Given the description of an element on the screen output the (x, y) to click on. 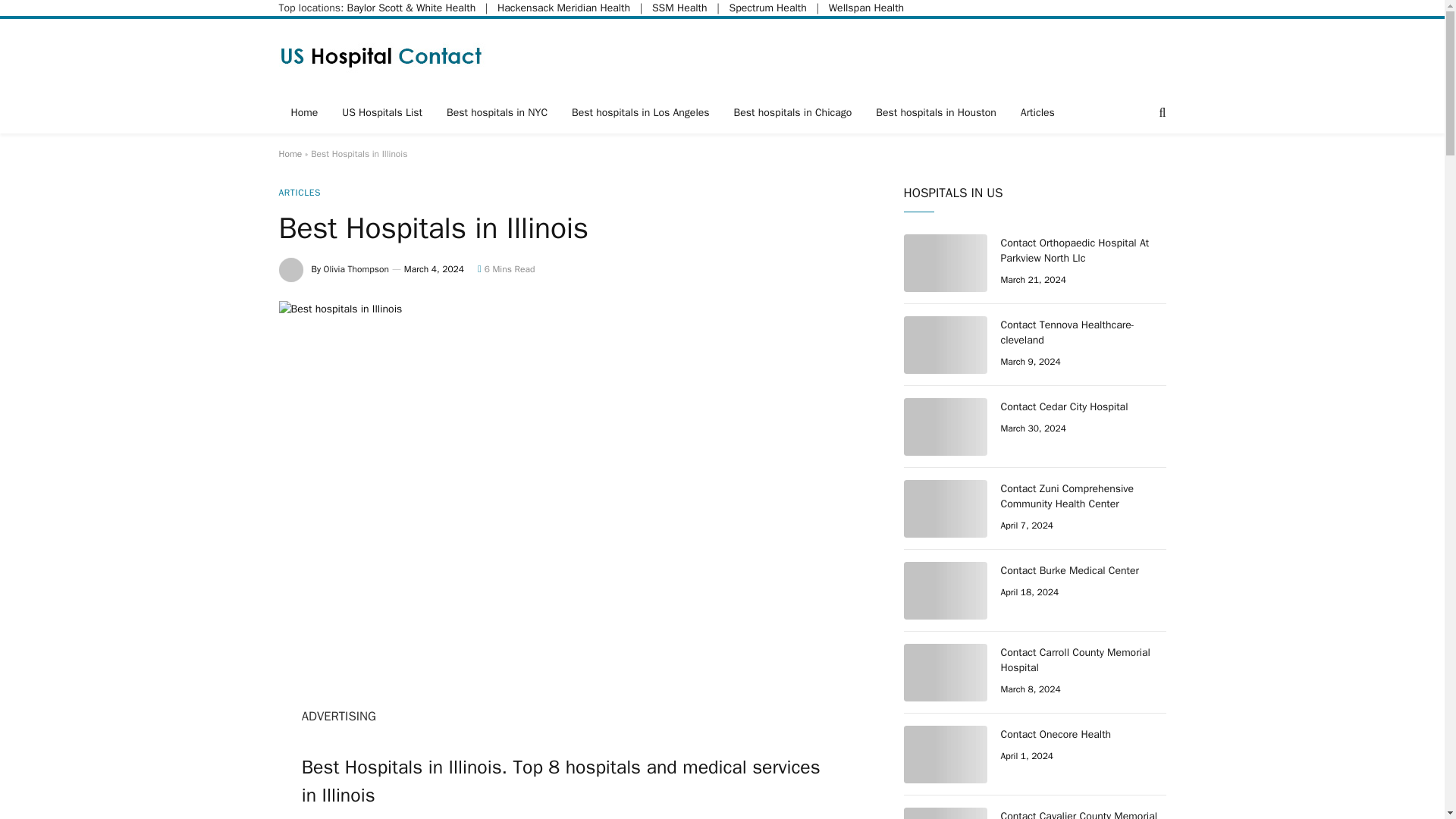
SSM Health (679, 7)
Best hospitals in Los Angeles (639, 112)
US Hospitals List (381, 112)
Home (290, 153)
SSM Health (679, 7)
Wellspan Health (866, 7)
Lists of hospitals in the United States (381, 54)
Olivia Thompson (355, 268)
Hackensack Meridian Health (563, 7)
ARTICLES (300, 192)
Wellspan Health (866, 7)
Hospital Contact (304, 112)
Best hospitals in New York (496, 112)
Hackensack Meridian Health (563, 7)
Best hospitals in Chicago (793, 112)
